Given the description of an element on the screen output the (x, y) to click on. 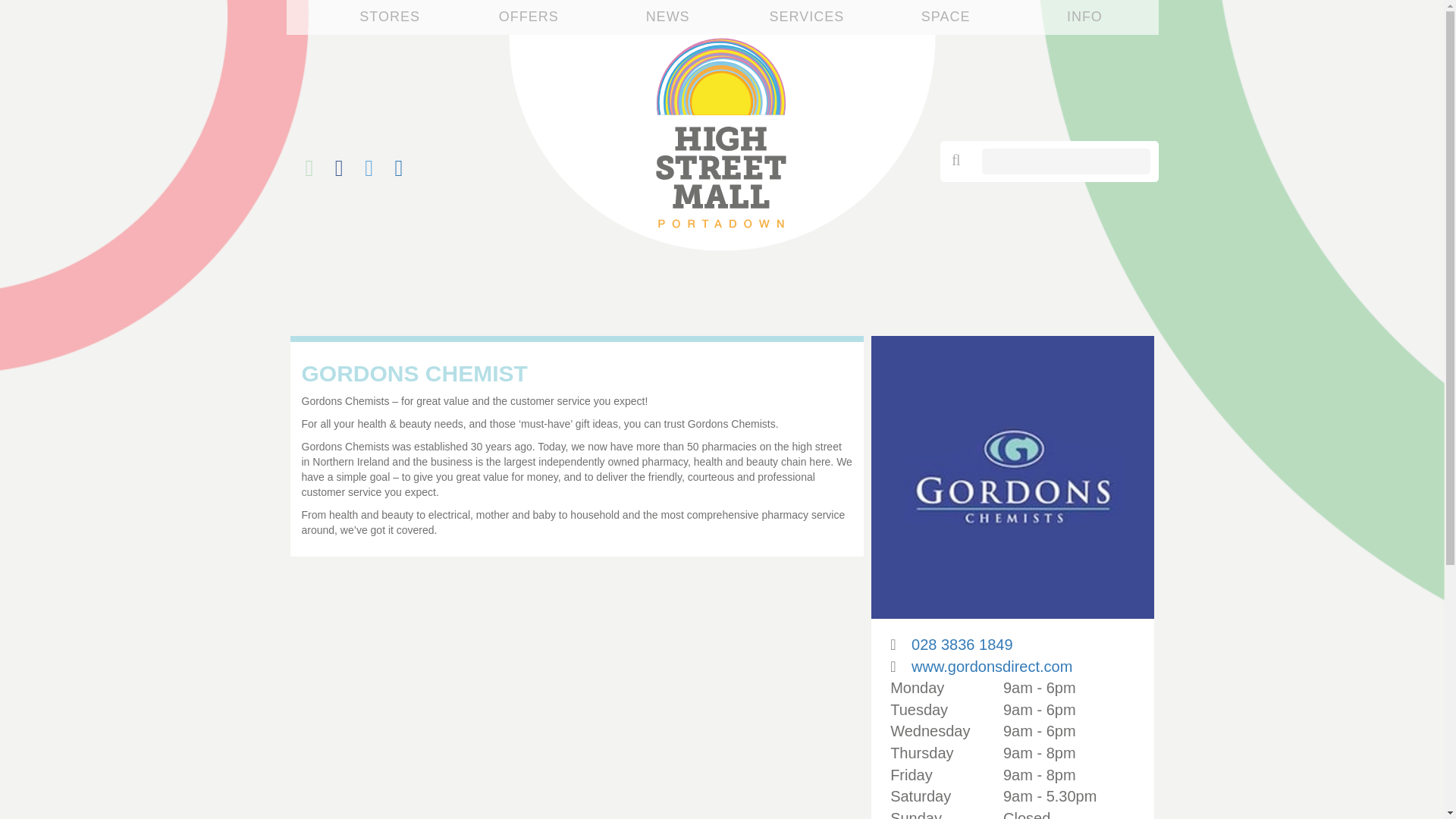
STORES (389, 16)
www.gordonsdirect.com (991, 666)
SPACE (946, 16)
INFO (1084, 16)
SERVICES (807, 16)
OFFERS (529, 16)
NEWS (668, 16)
028 3836 1849 (961, 644)
